Given the description of an element on the screen output the (x, y) to click on. 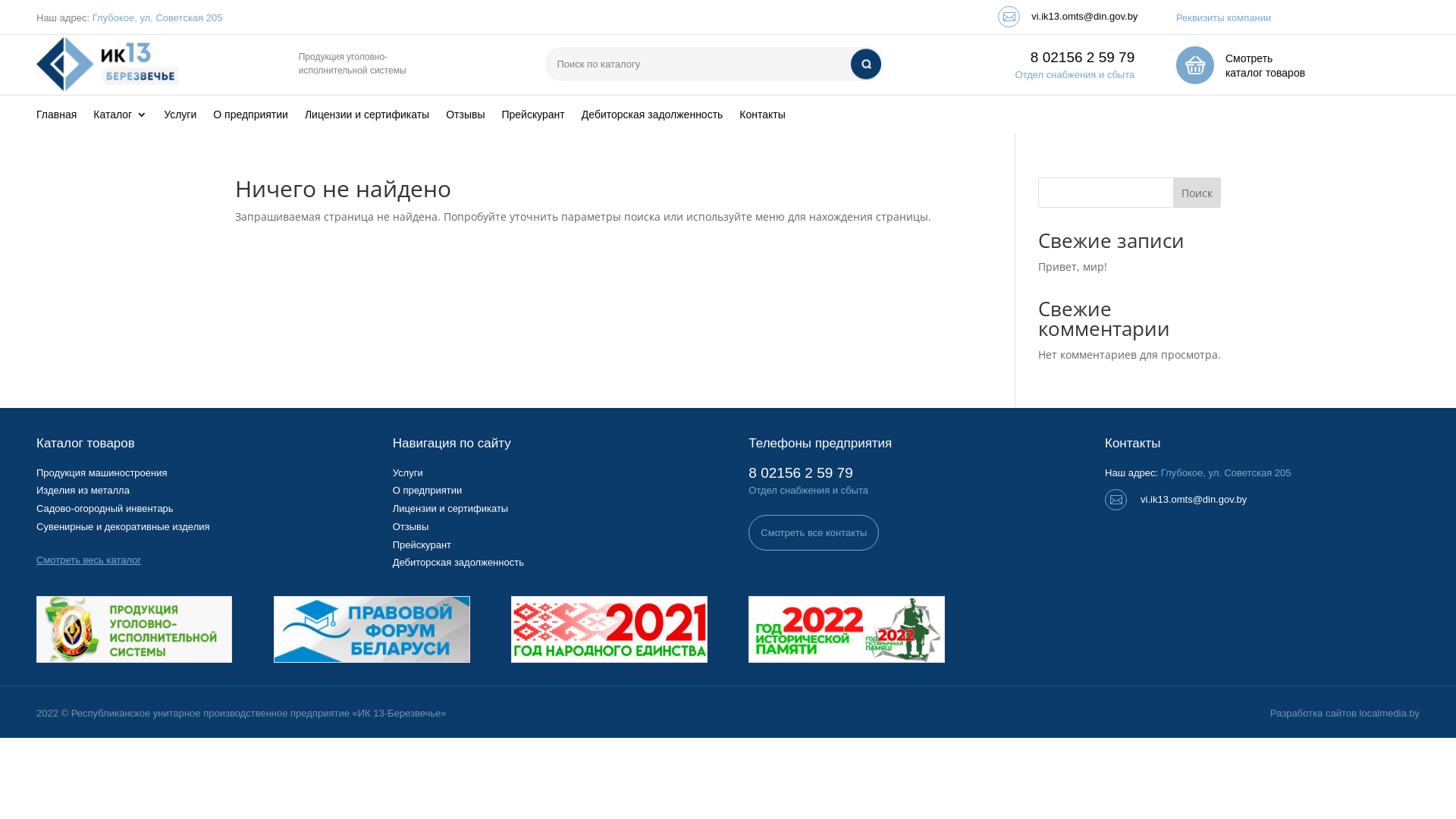
vi.ik13.omts@din.gov.by Element type: text (1084, 15)
logoBig Element type: hover (134, 628)
vi.ik13.omts@din.gov.by Element type: text (1193, 499)
8 02156 2 59 79 Element type: text (800, 472)
gip2022hatyn (1) Element type: hover (846, 628)
8 02156 2 59 79 Element type: text (1082, 57)
ik_logo Element type: hover (108, 65)
f010e3d60f82733d820c2025f345ac6a-300x150 Element type: hover (371, 628)
